Given the description of an element on the screen output the (x, y) to click on. 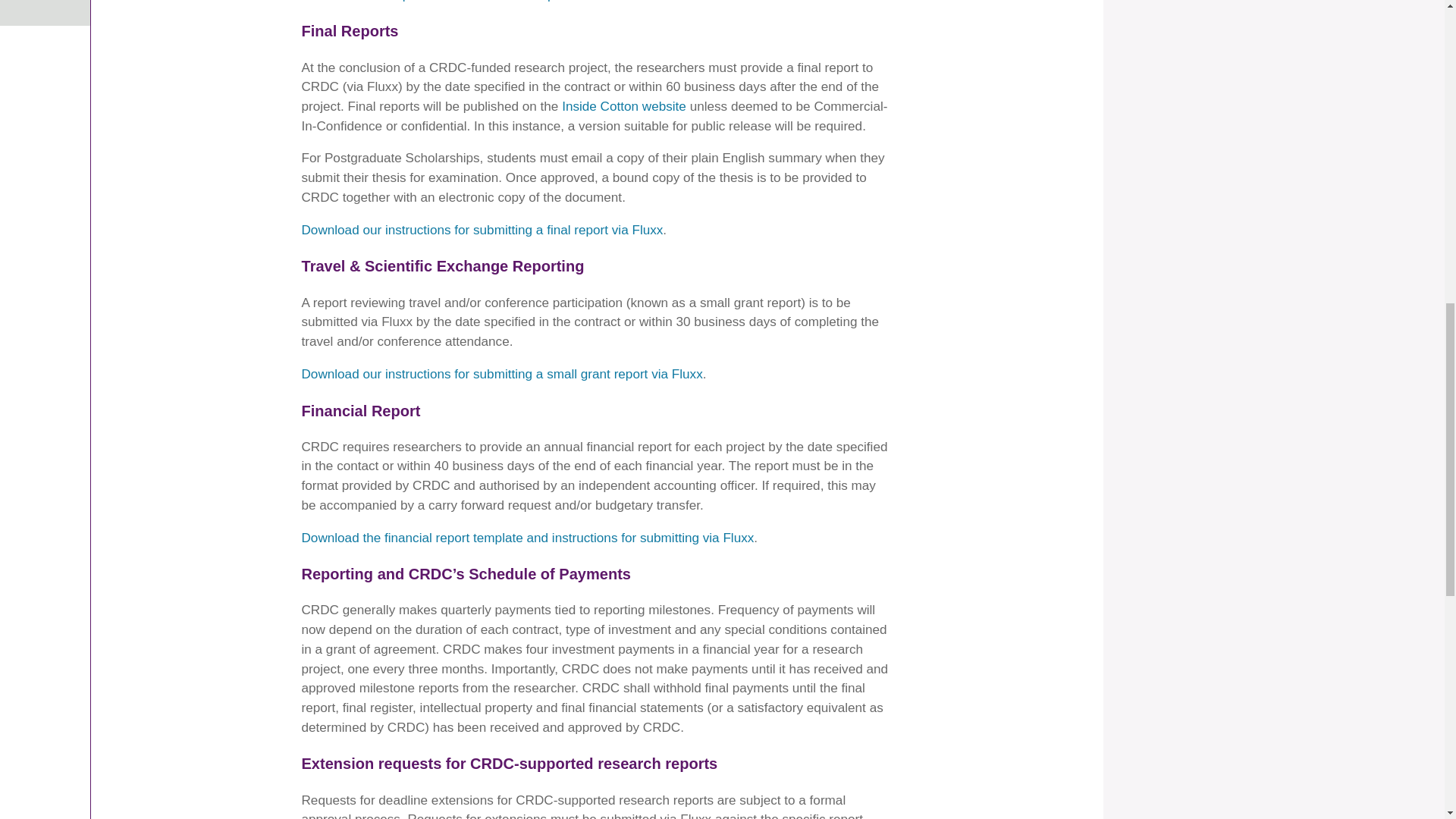
Inside Cotton website (623, 105)
CONTACT (45, 12)
Contact Page (45, 12)
